Given the description of an element on the screen output the (x, y) to click on. 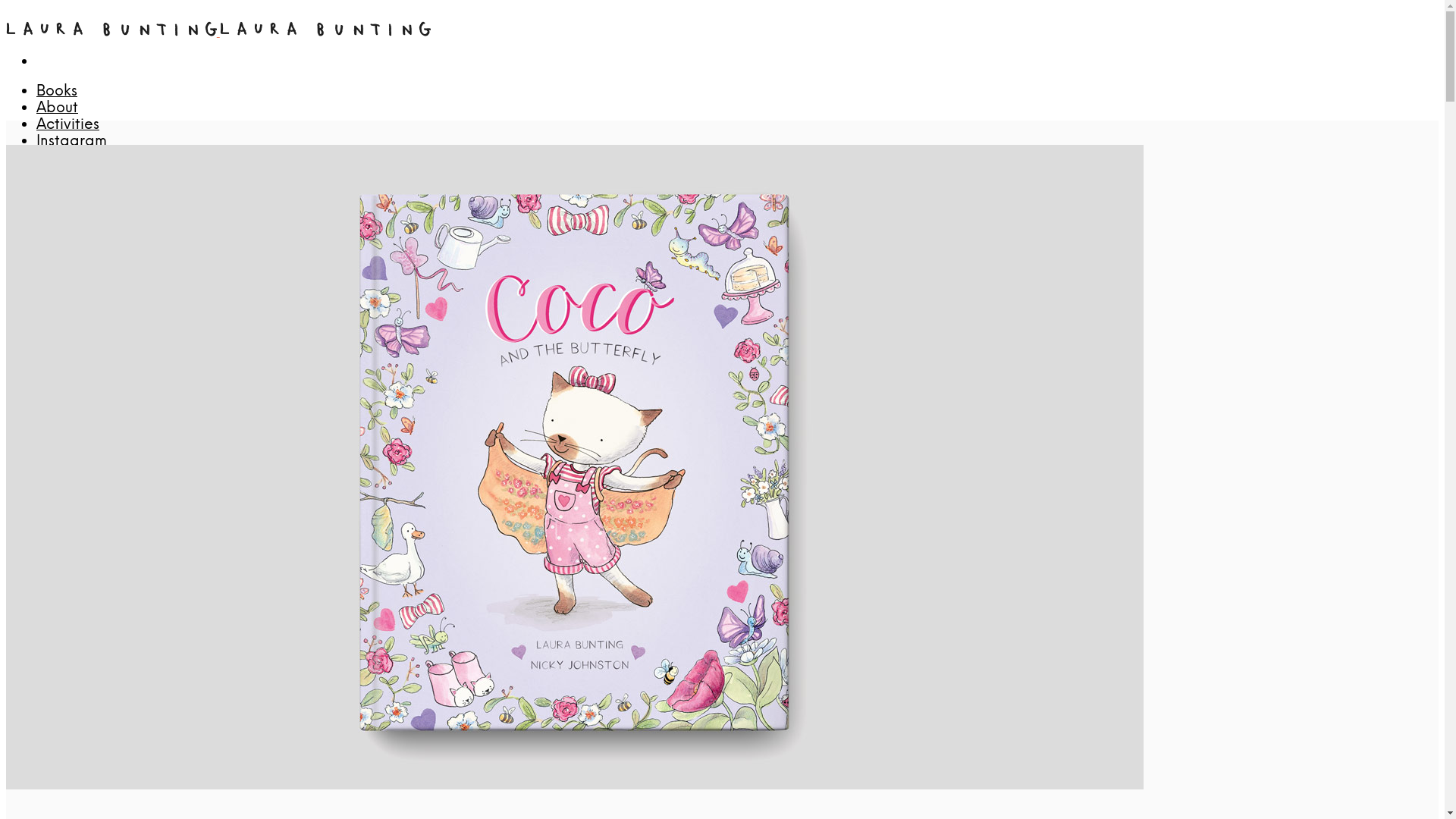
About Element type: text (57, 108)
Books Element type: text (56, 91)
Activities Element type: text (67, 124)
Instagram Element type: text (71, 141)
Contact Element type: text (65, 158)
